Given the description of an element on the screen output the (x, y) to click on. 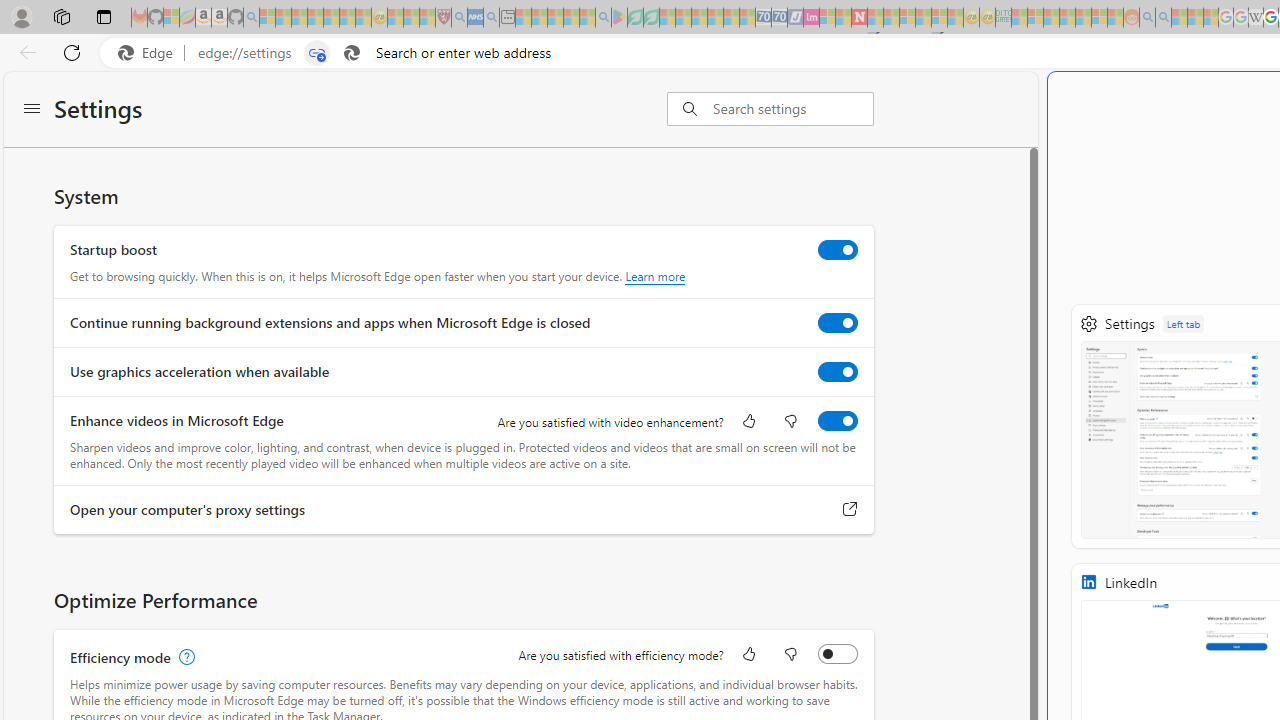
Learn more (655, 276)
Search icon (351, 53)
Like (748, 655)
utah sues federal government - Search - Sleeping (491, 17)
Tabs in split screen (317, 53)
Settings menu (31, 110)
Target page - Wikipedia - Sleeping (1256, 17)
